Given the description of an element on the screen output the (x, y) to click on. 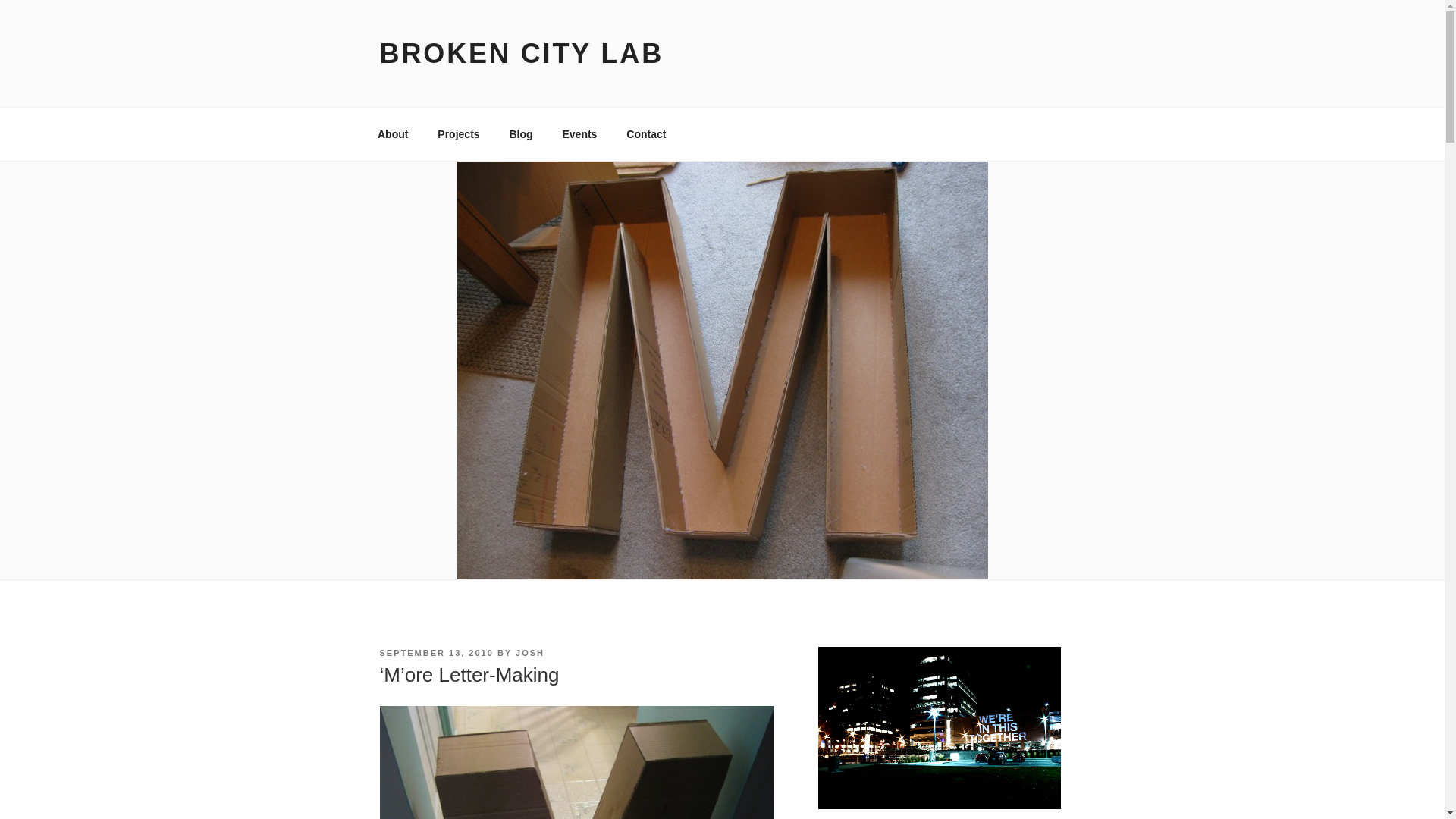
Letter 'M' (575, 762)
BROKEN CITY LAB (520, 52)
JOSH (529, 652)
Events (579, 133)
Blog (521, 133)
About (392, 133)
SEPTEMBER 13, 2010 (435, 652)
Contact (645, 133)
Projects (459, 133)
